Given the description of an element on the screen output the (x, y) to click on. 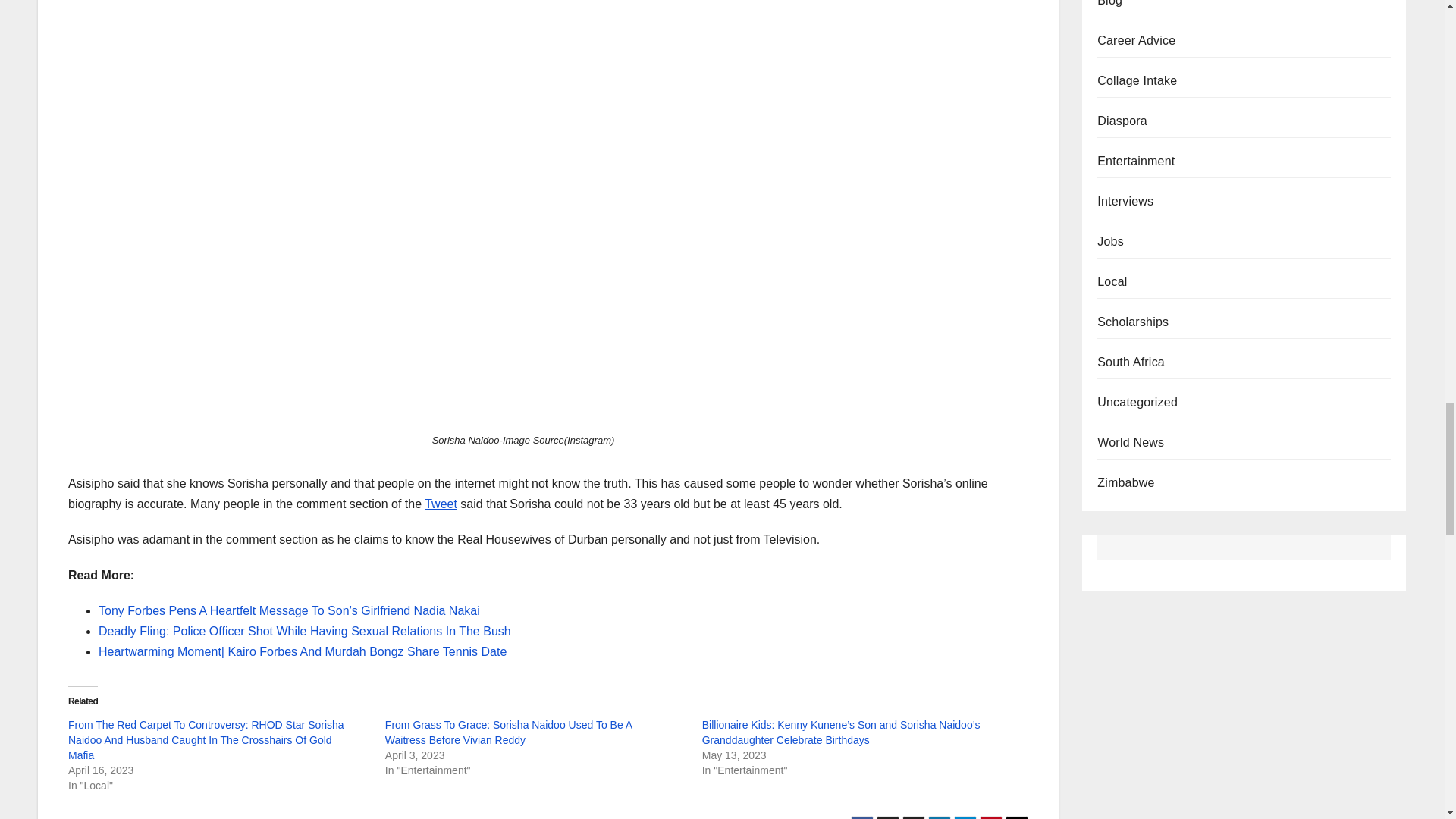
Tweet (441, 503)
